Given the description of an element on the screen output the (x, y) to click on. 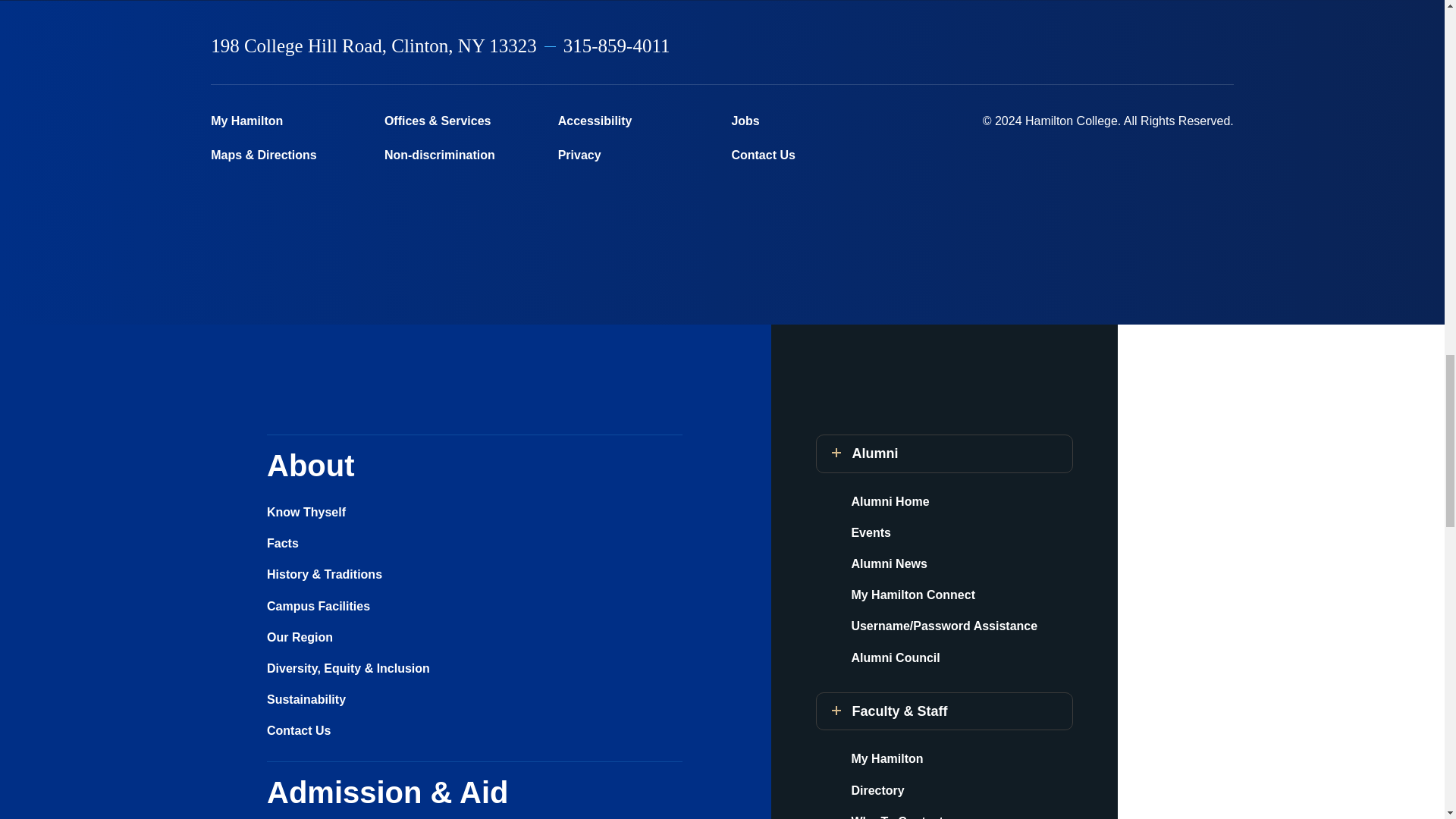
Linkedin (1149, 46)
TikTok (1226, 46)
My Hamilton (288, 121)
Twitter (1069, 46)
Youtube (1188, 46)
Facebook (1029, 46)
Instagram (1109, 46)
198 College Hill Road, Clinton, NY 13323 (373, 46)
315-859-4011 (617, 46)
